Given the description of an element on the screen output the (x, y) to click on. 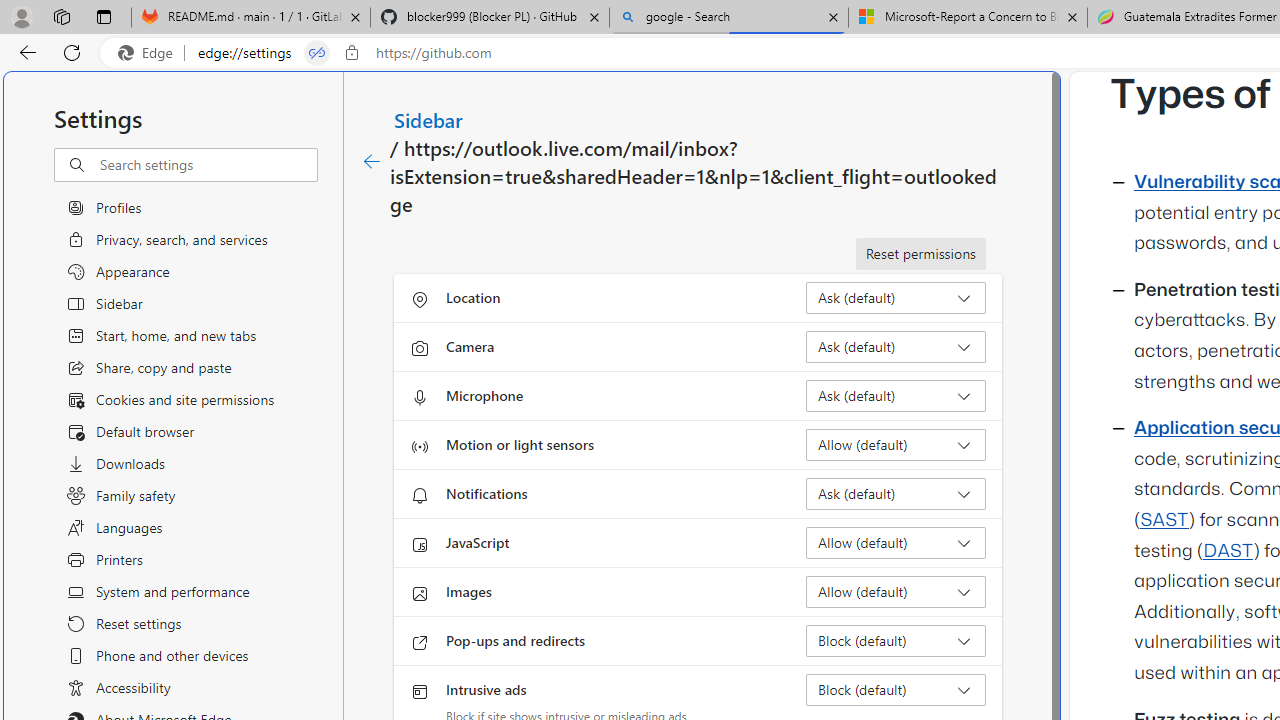
Reset permissions (920, 254)
Motion or light sensors Allow (default) (895, 444)
Go back to Sidebar page. (372, 162)
Images Allow (default) (895, 591)
Camera Ask (default) (895, 346)
Class: c01182 (371, 161)
Tabs in split screen (317, 53)
Intrusive ads Block (default) (895, 689)
